Given the description of an element on the screen output the (x, y) to click on. 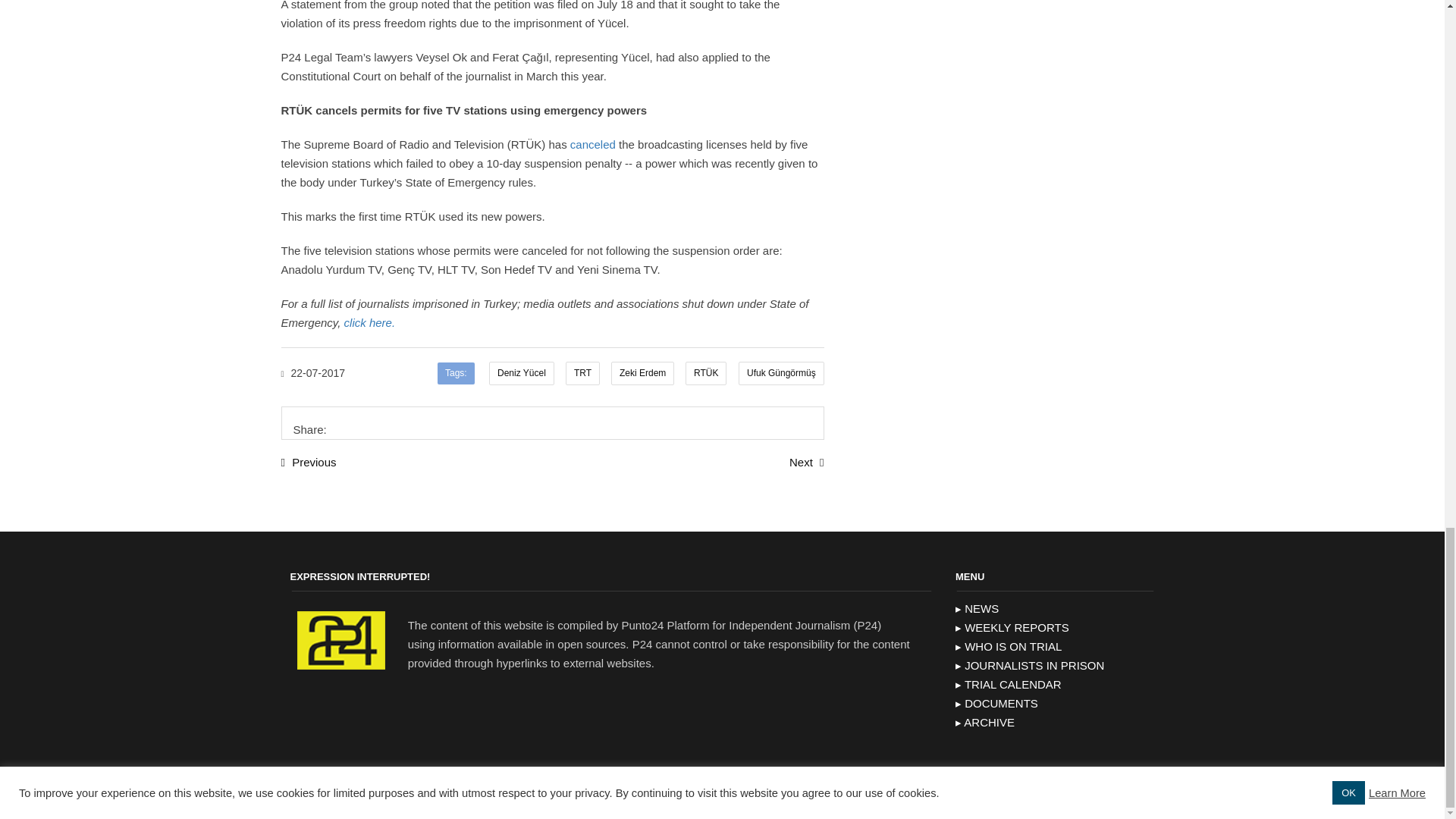
Tags: (456, 373)
Next (806, 461)
click here. (369, 322)
Zeki Erdem (641, 373)
Previous (308, 461)
TRT (582, 373)
canceled (594, 144)
